Given the description of an element on the screen output the (x, y) to click on. 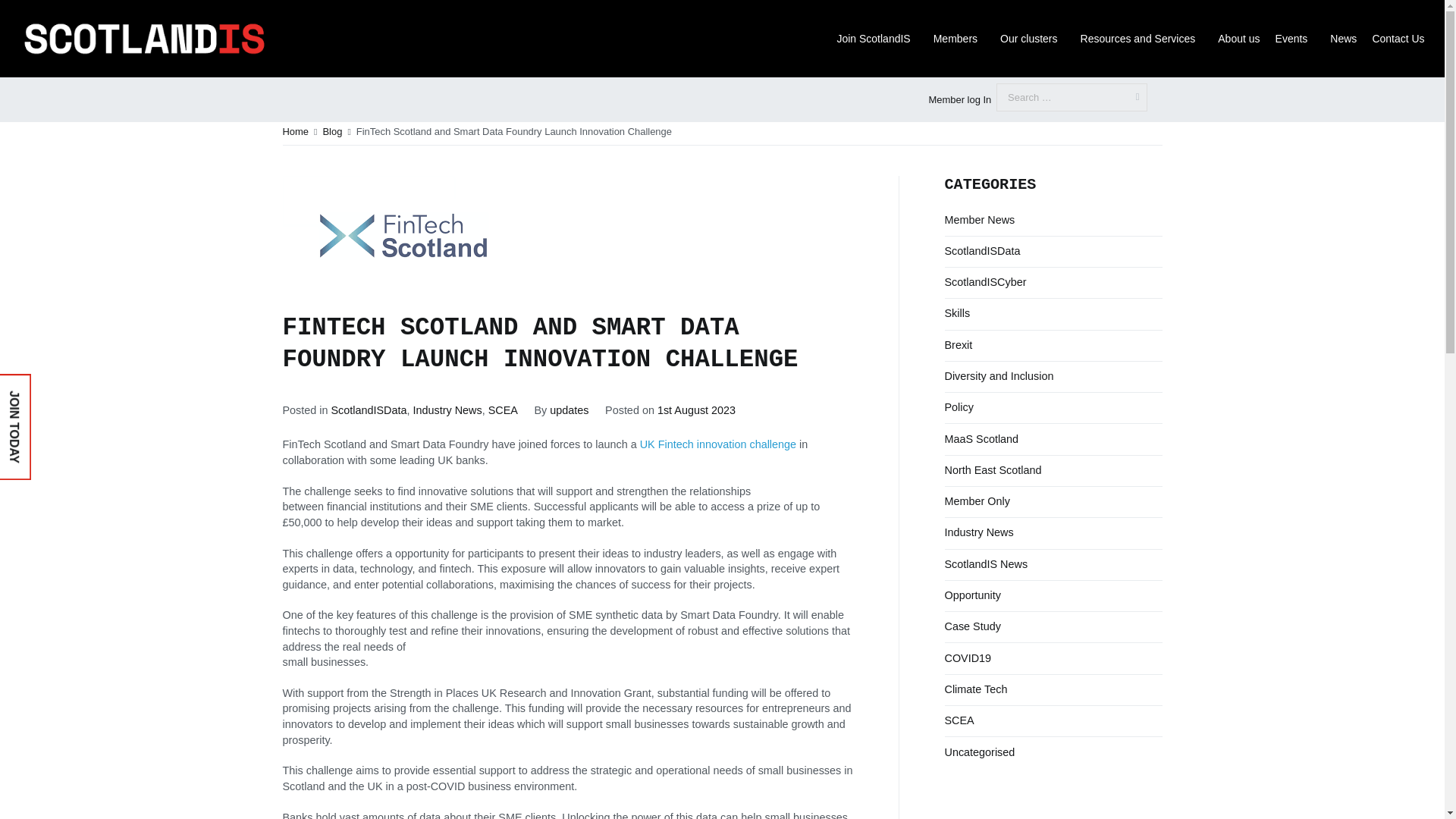
Resources and Services (1142, 38)
About us (1237, 38)
Member log In (959, 99)
Contact Us (1397, 38)
Search (26, 13)
News (1343, 38)
Join ScotlandIS (876, 38)
Events (1295, 38)
Our clusters (1031, 38)
Members (959, 38)
